Given the description of an element on the screen output the (x, y) to click on. 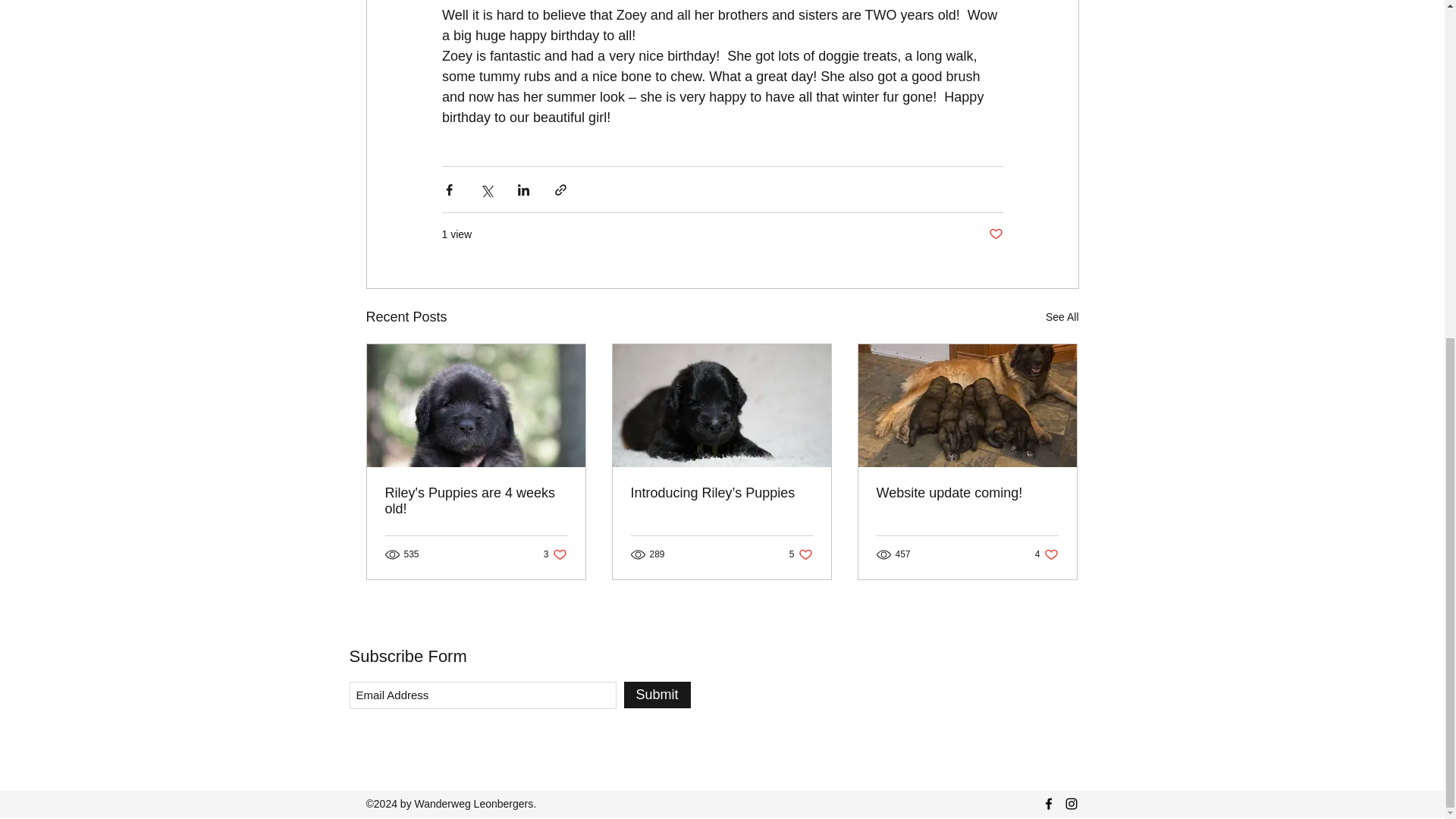
Post not marked as liked (1046, 554)
Submit (995, 234)
Riley's Puppies are 4 weeks old! (656, 694)
Website update coming! (476, 500)
See All (555, 554)
